Given the description of an element on the screen output the (x, y) to click on. 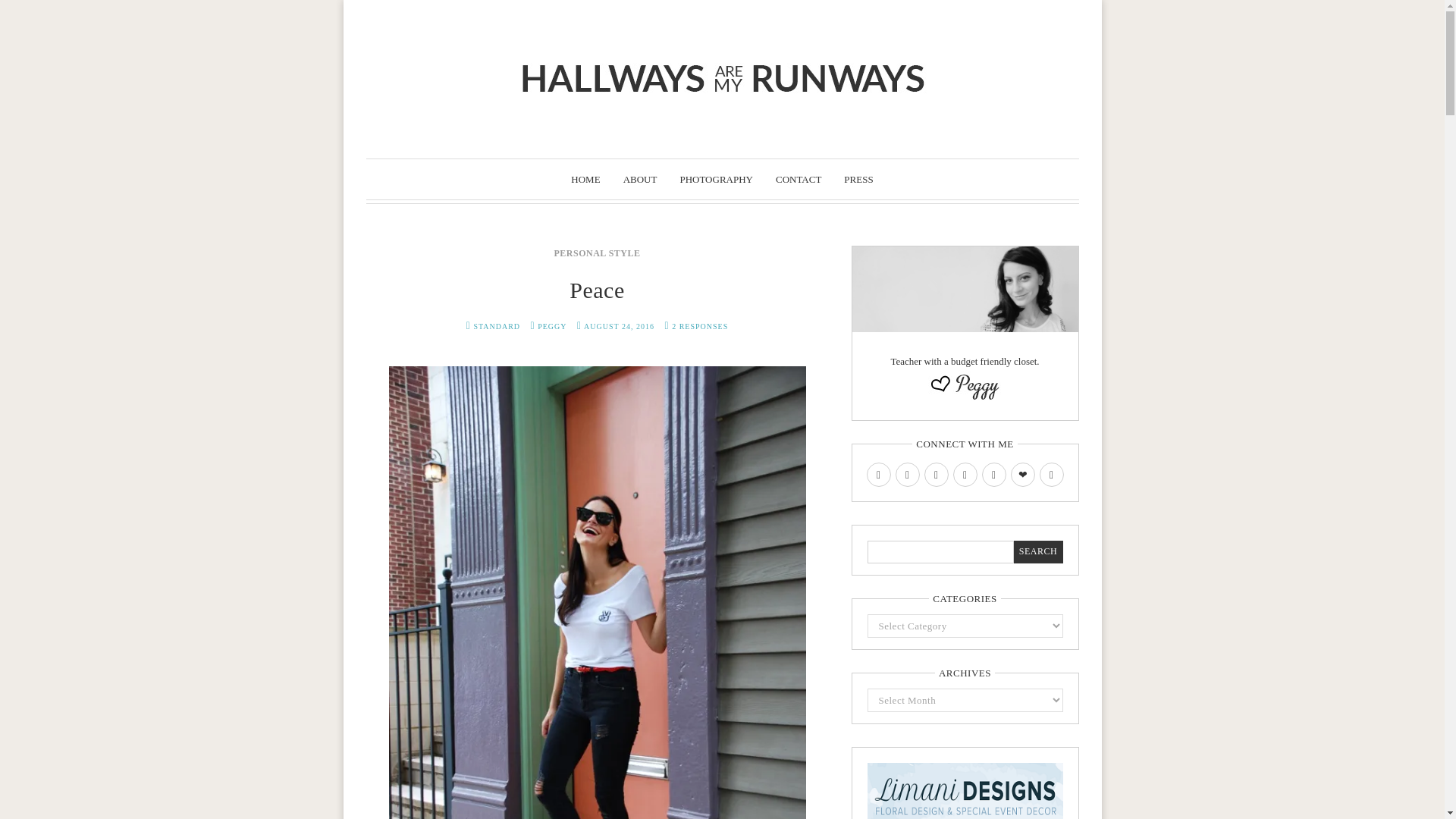
Search (1037, 551)
PERSONAL STYLE (596, 253)
PRESS (858, 179)
ABOUT (640, 179)
HOME (584, 179)
PEGGY (551, 326)
CONTACT (798, 179)
Posts by Peggy (551, 326)
PHOTOGRAPHY (715, 179)
2 RESPONSES (699, 326)
